Given the description of an element on the screen output the (x, y) to click on. 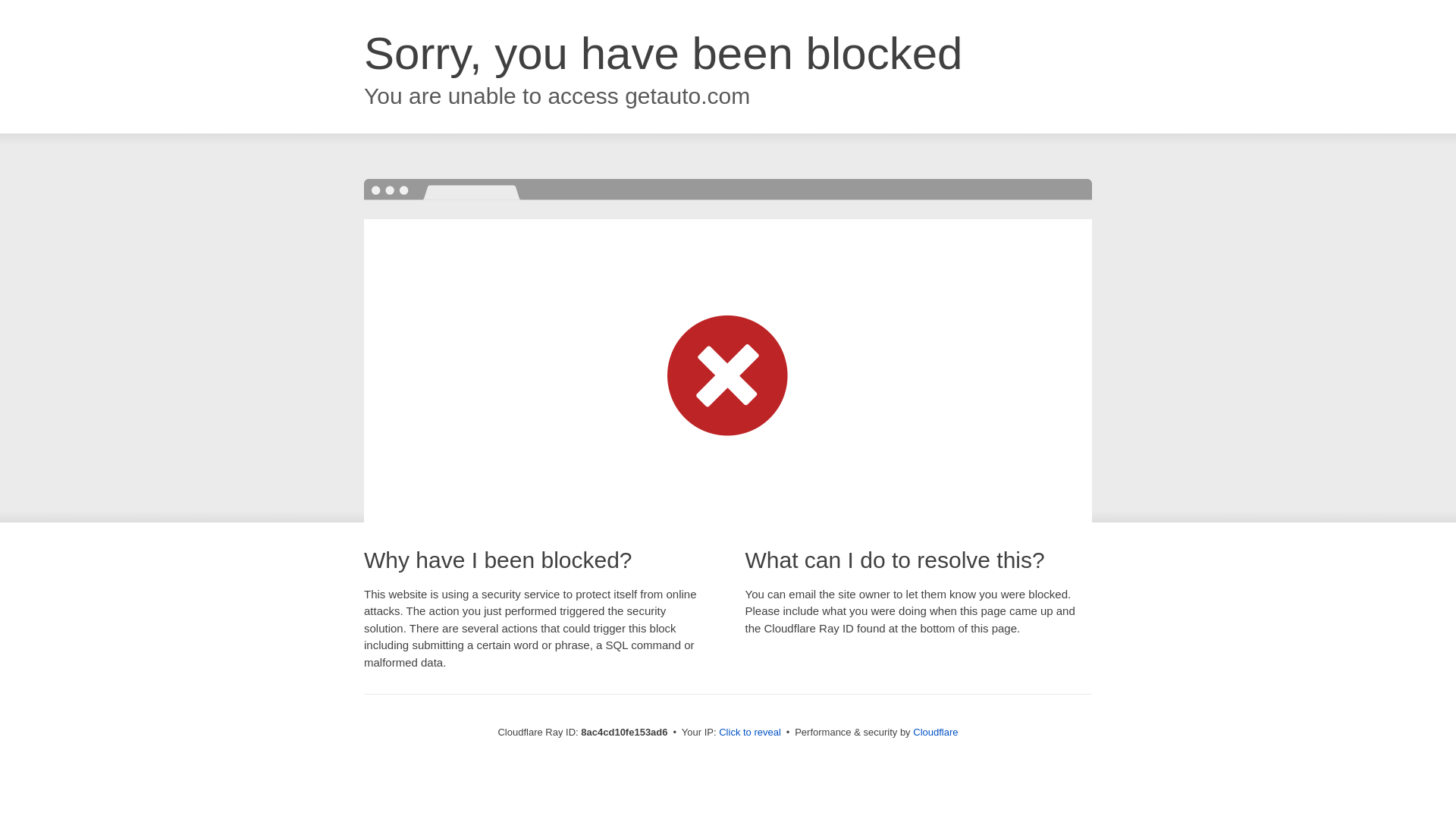
Click to reveal (749, 732)
Cloudflare (935, 731)
